Given the description of an element on the screen output the (x, y) to click on. 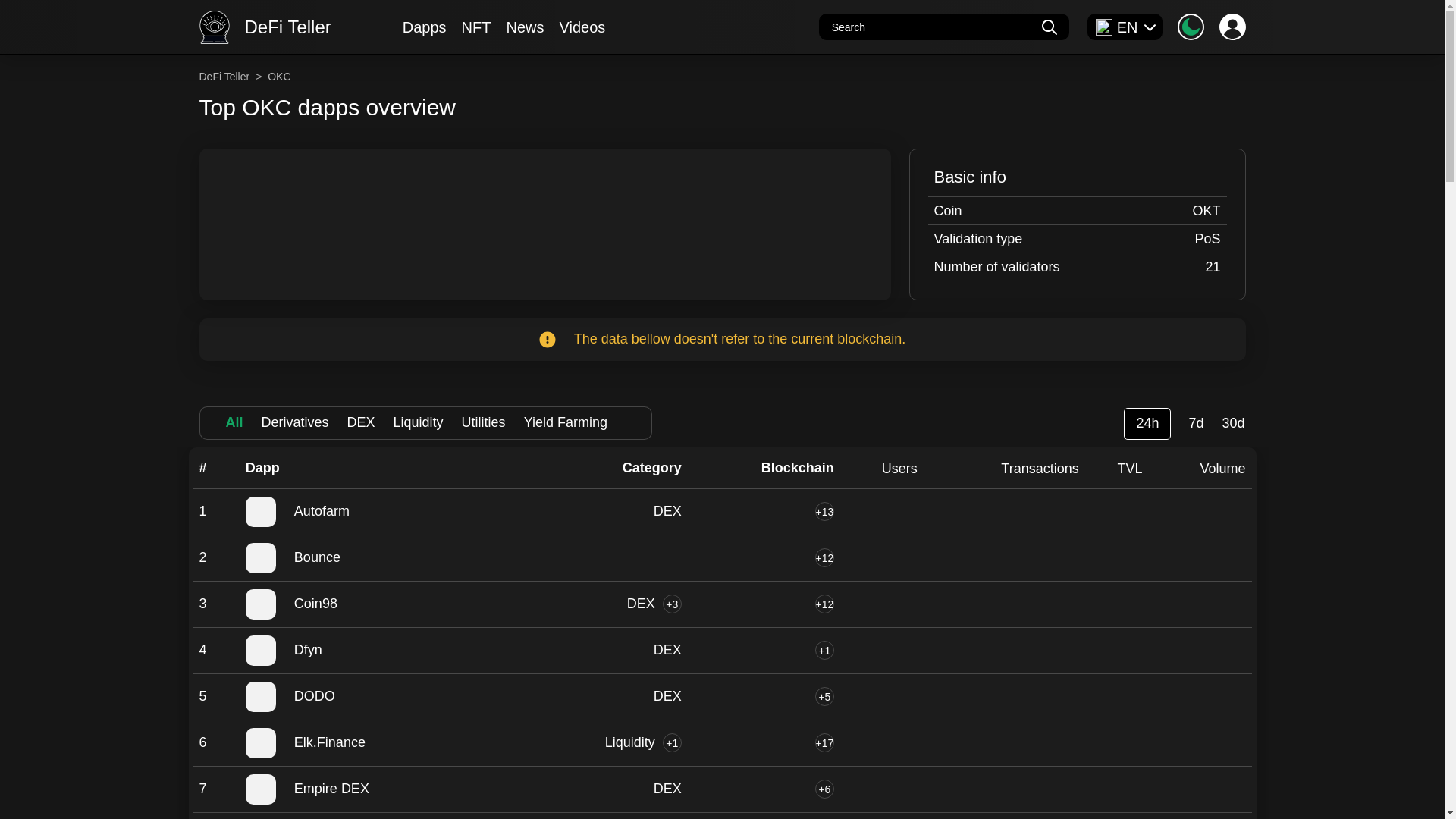
Transactions (1039, 468)
DeFi Teller (231, 76)
TVL (1130, 468)
Bounce (383, 557)
DEX (667, 511)
Autofarm (383, 511)
Volume (1221, 468)
Users (899, 468)
